Given the description of an element on the screen output the (x, y) to click on. 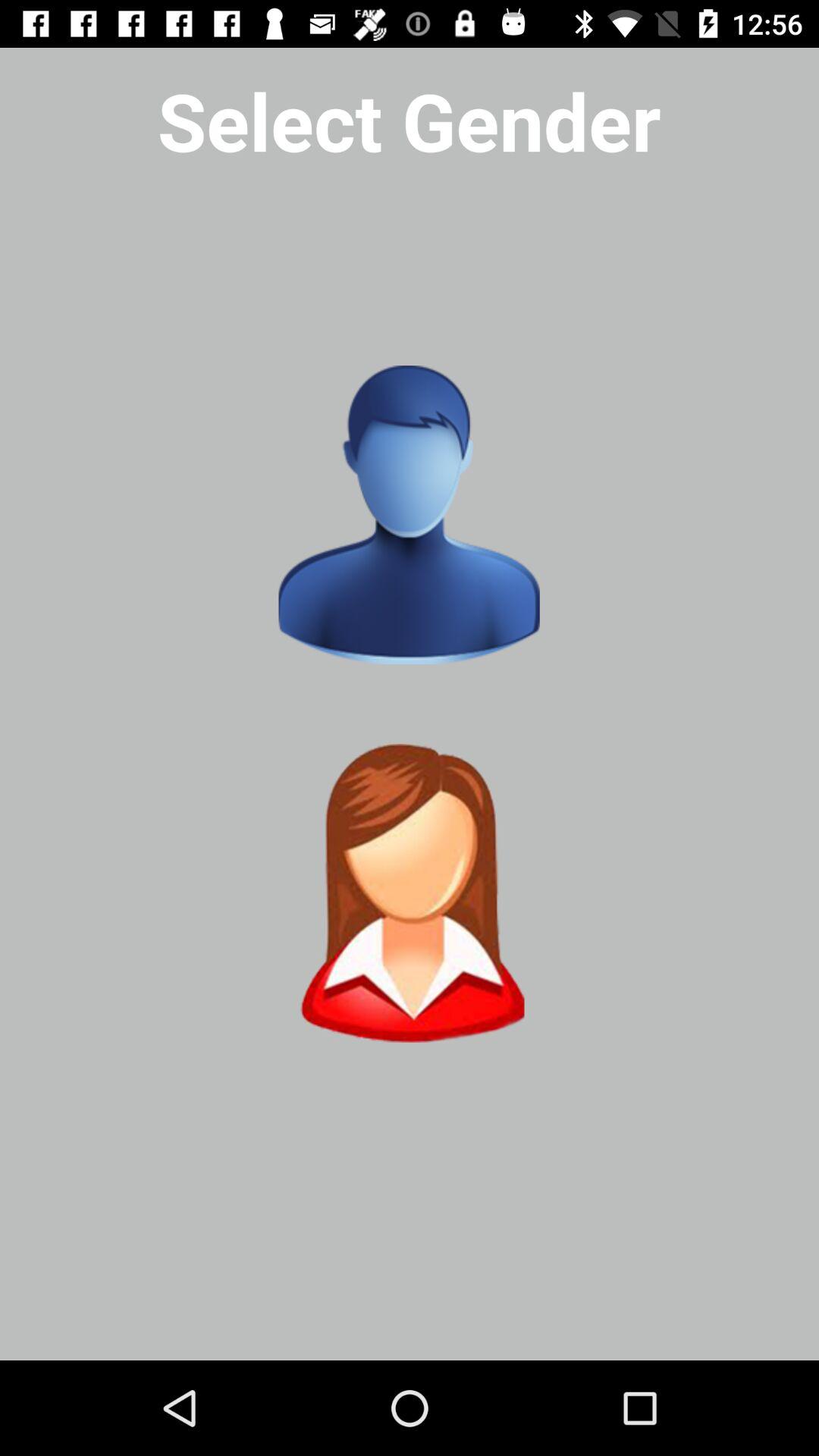
female gender option (408, 892)
